Given the description of an element on the screen output the (x, y) to click on. 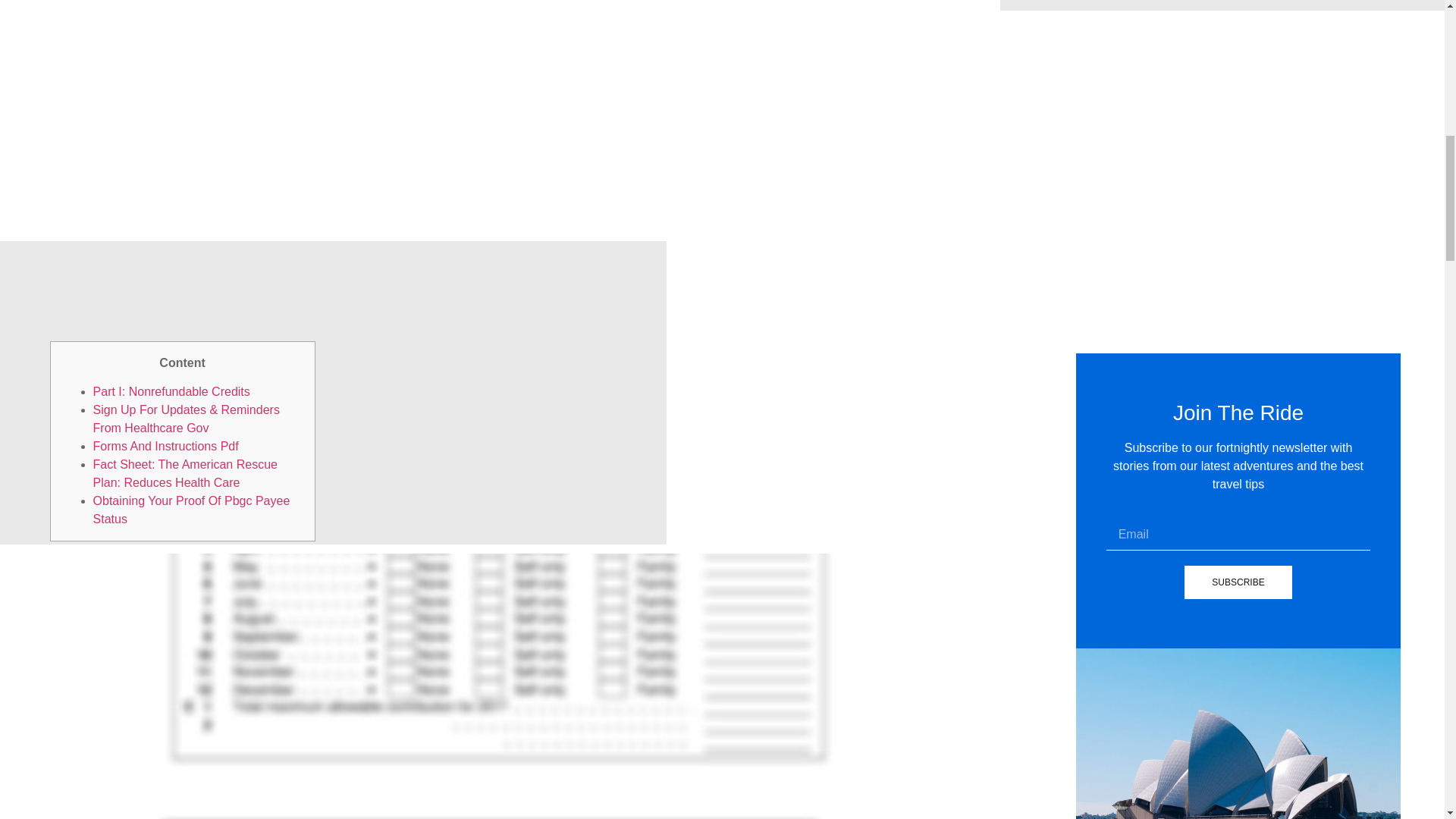
Obtaining Your Proof Of Pbgc Payee Status (191, 509)
Fact Sheet: The American Rescue Plan: Reduces Health Care (185, 472)
Part I: Nonrefundable Credits (171, 391)
Forms And Instructions Pdf (165, 445)
SUBSCRIBE (1238, 581)
